Given the description of an element on the screen output the (x, y) to click on. 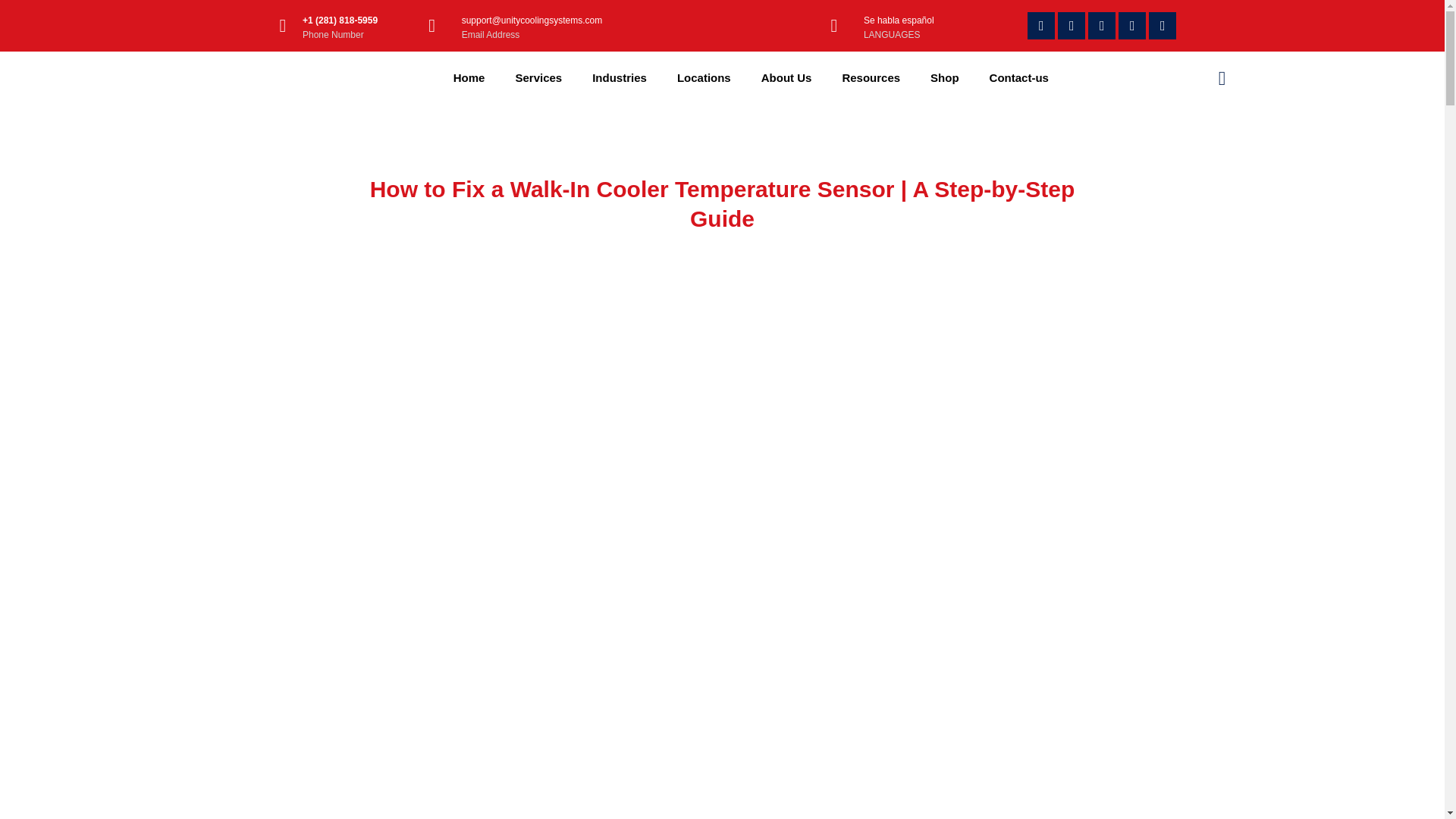
Industries (619, 77)
Home (469, 77)
Services (537, 77)
